Given the description of an element on the screen output the (x, y) to click on. 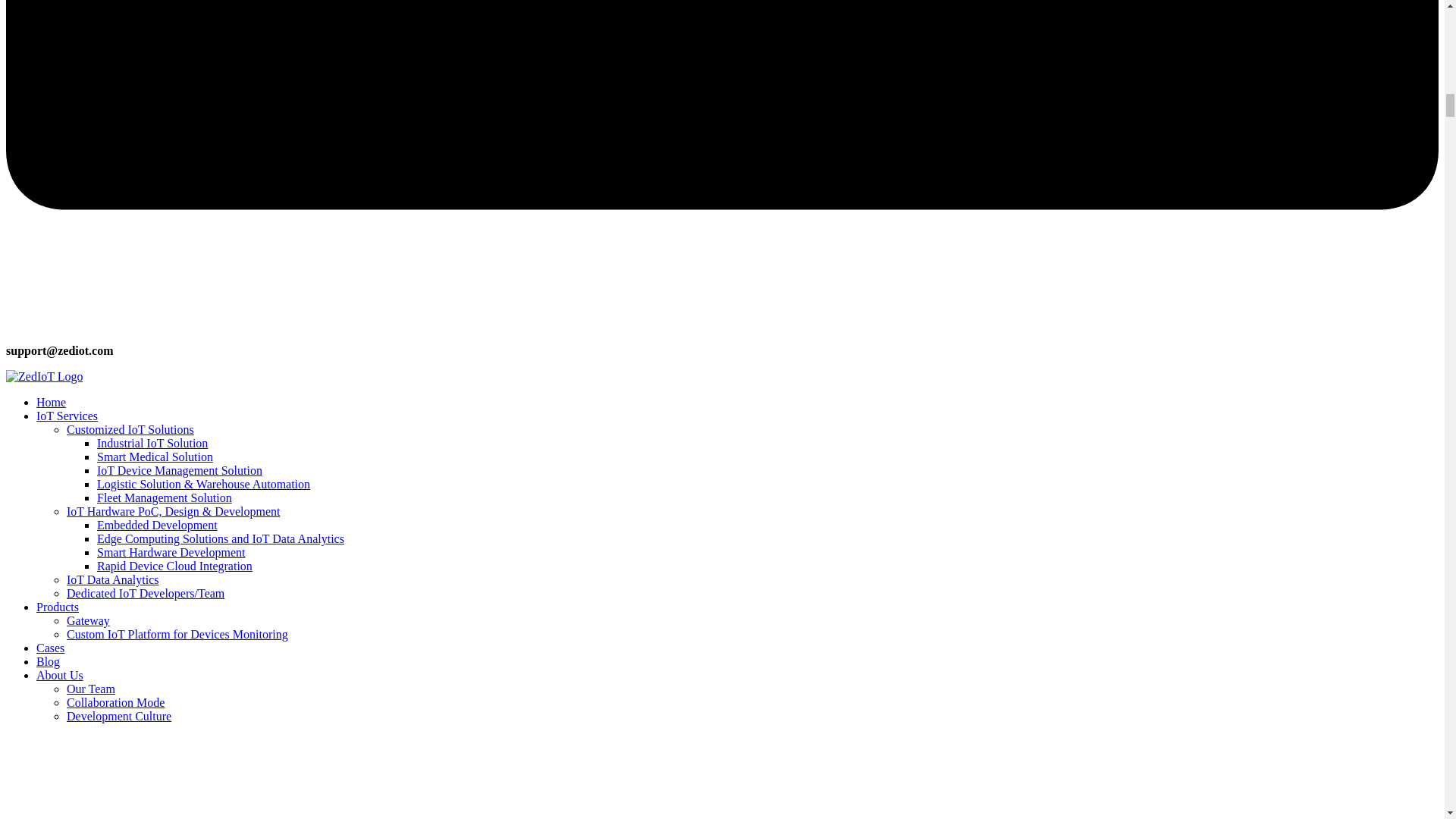
How to Choose Open-Source LoRaWAN Network Servers 2 (43, 377)
